Given the description of an element on the screen output the (x, y) to click on. 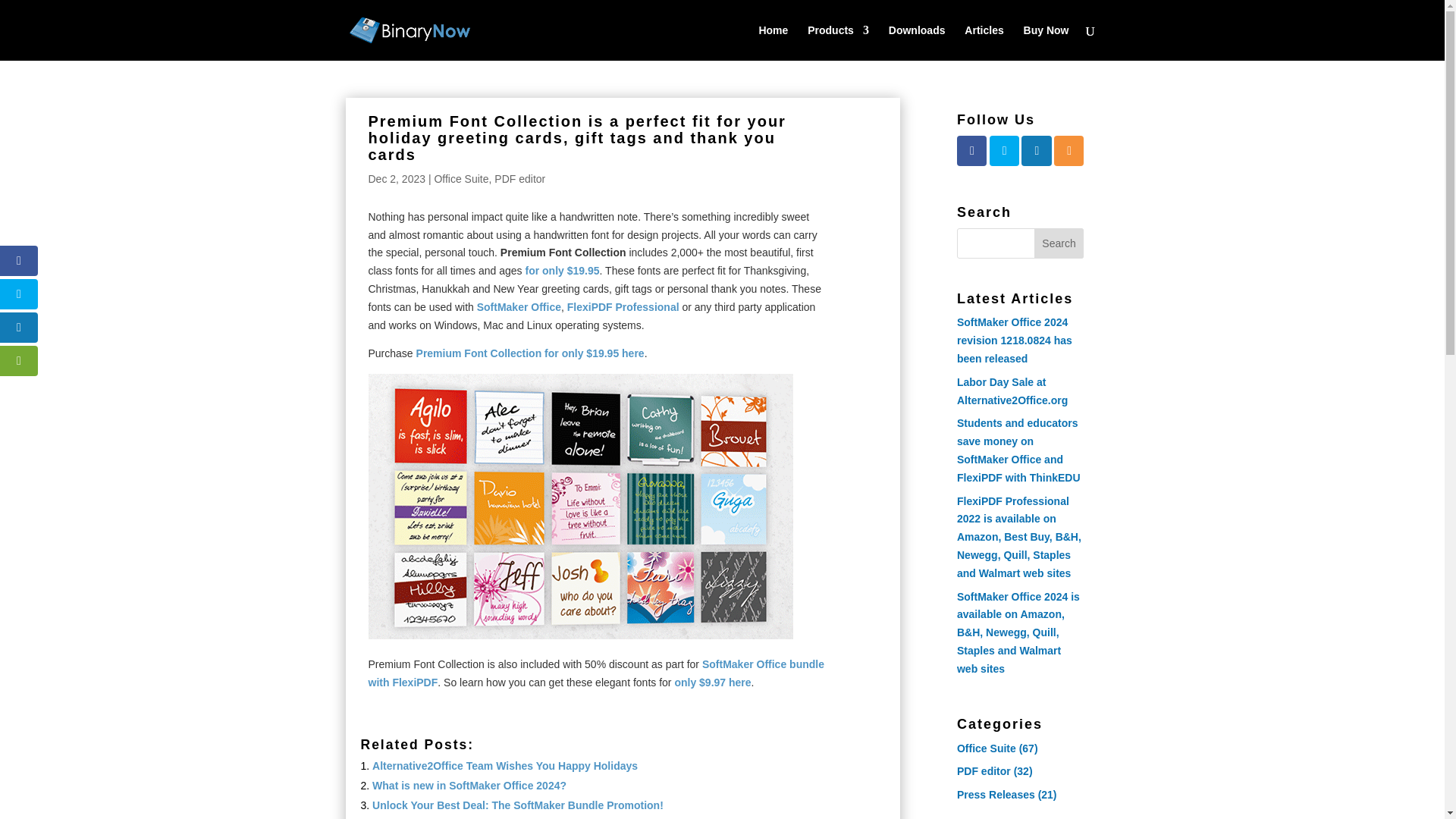
What is new in SoftMaker Office 2024? (469, 785)
Unlock Your Best Deal: The SoftMaker Bundle Promotion! (517, 805)
Articles (983, 42)
FlexiPDF Professional (623, 306)
Search (1058, 243)
Products (838, 42)
Alternative2Office Team Wishes You Happy Holidays (504, 766)
Buy Now (1045, 42)
SoftMaker Office 2024 revision 1218.0824 has been released (1013, 340)
PDF editor (983, 770)
